Given the description of an element on the screen output the (x, y) to click on. 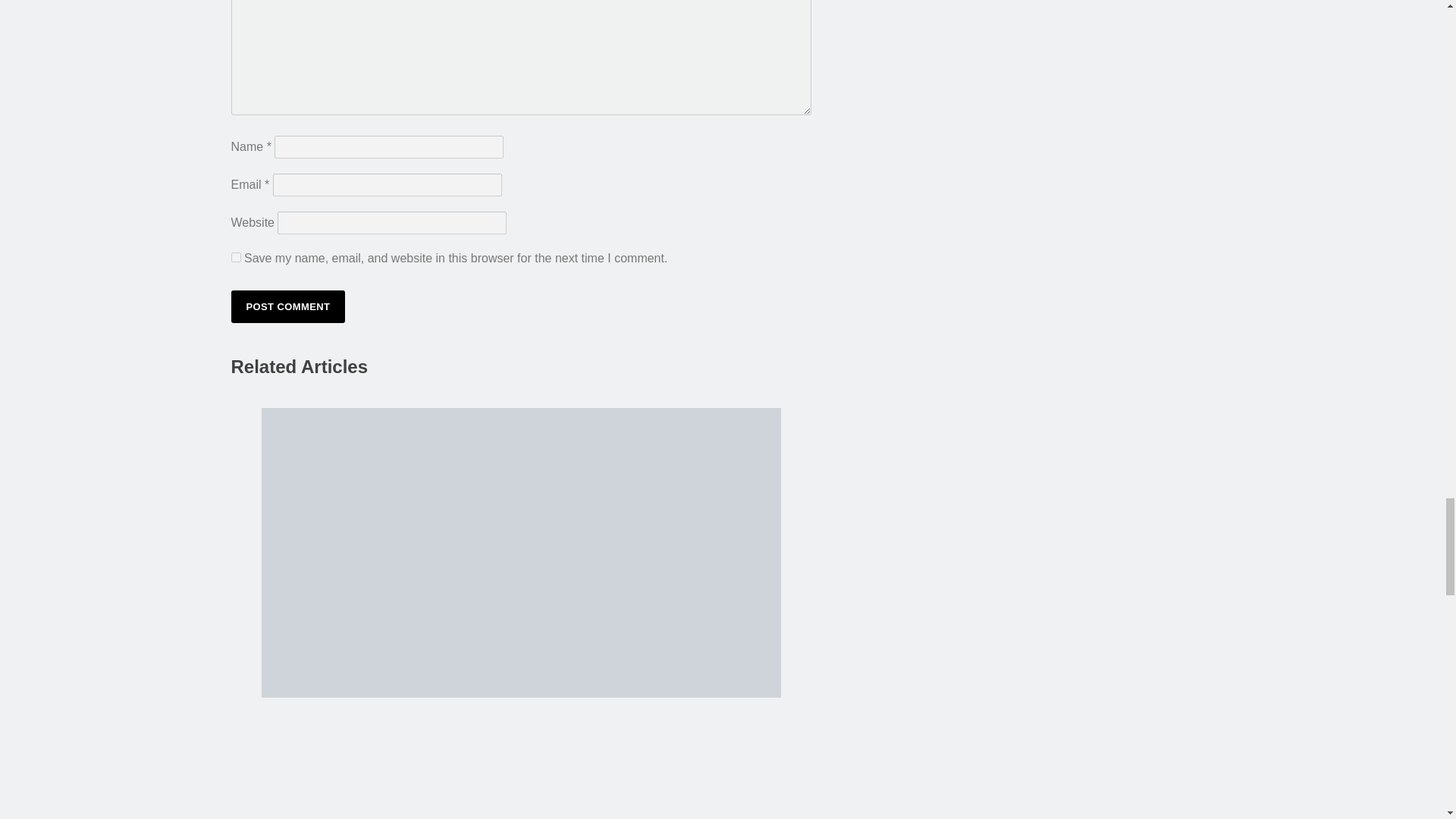
Post Comment (287, 306)
yes (235, 257)
